Given the description of an element on the screen output the (x, y) to click on. 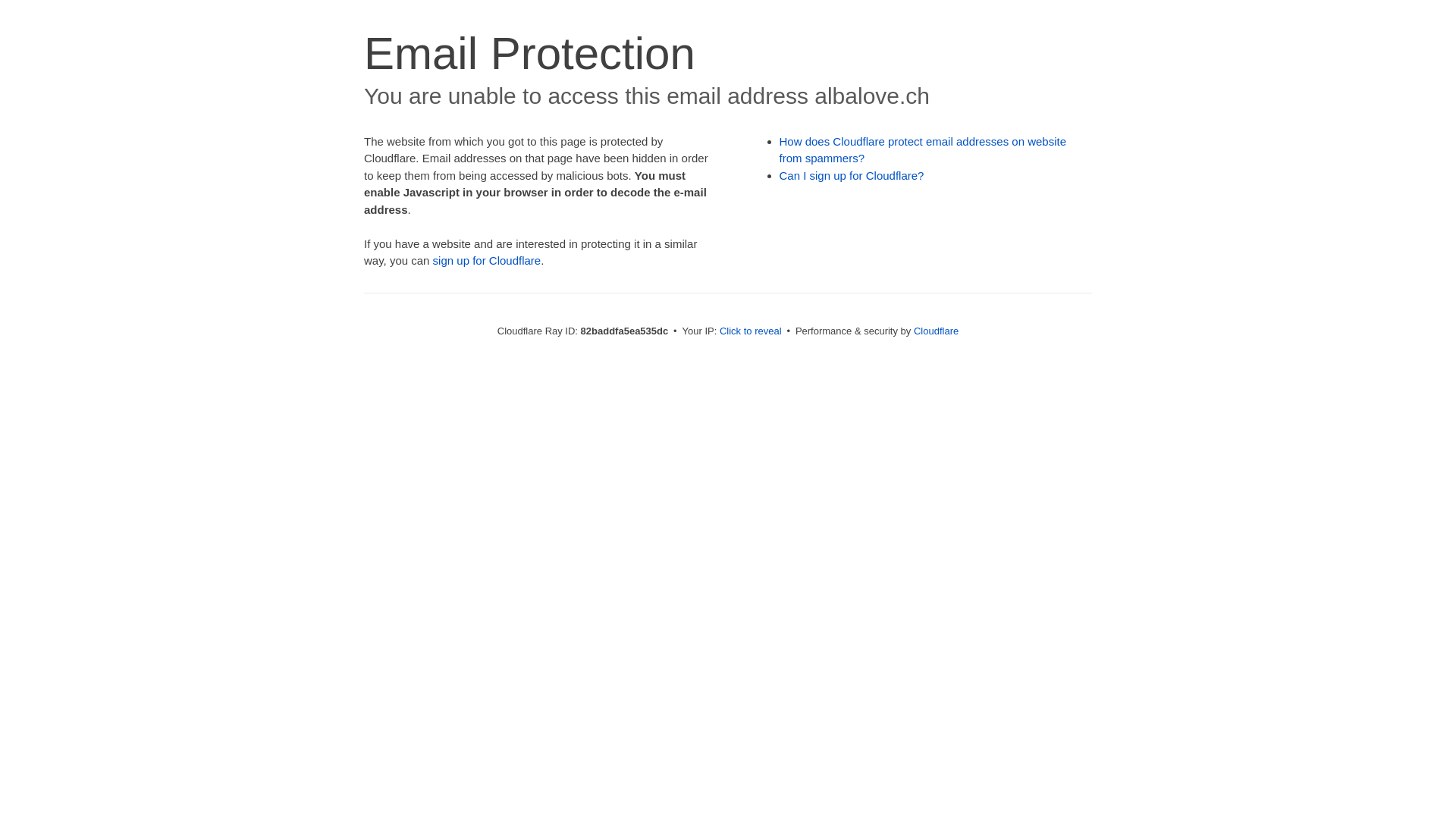
Cloudflare Element type: text (935, 330)
sign up for Cloudflare Element type: text (487, 260)
Can I sign up for Cloudflare? Element type: text (851, 175)
Click to reveal Element type: text (750, 330)
